Given the description of an element on the screen output the (x, y) to click on. 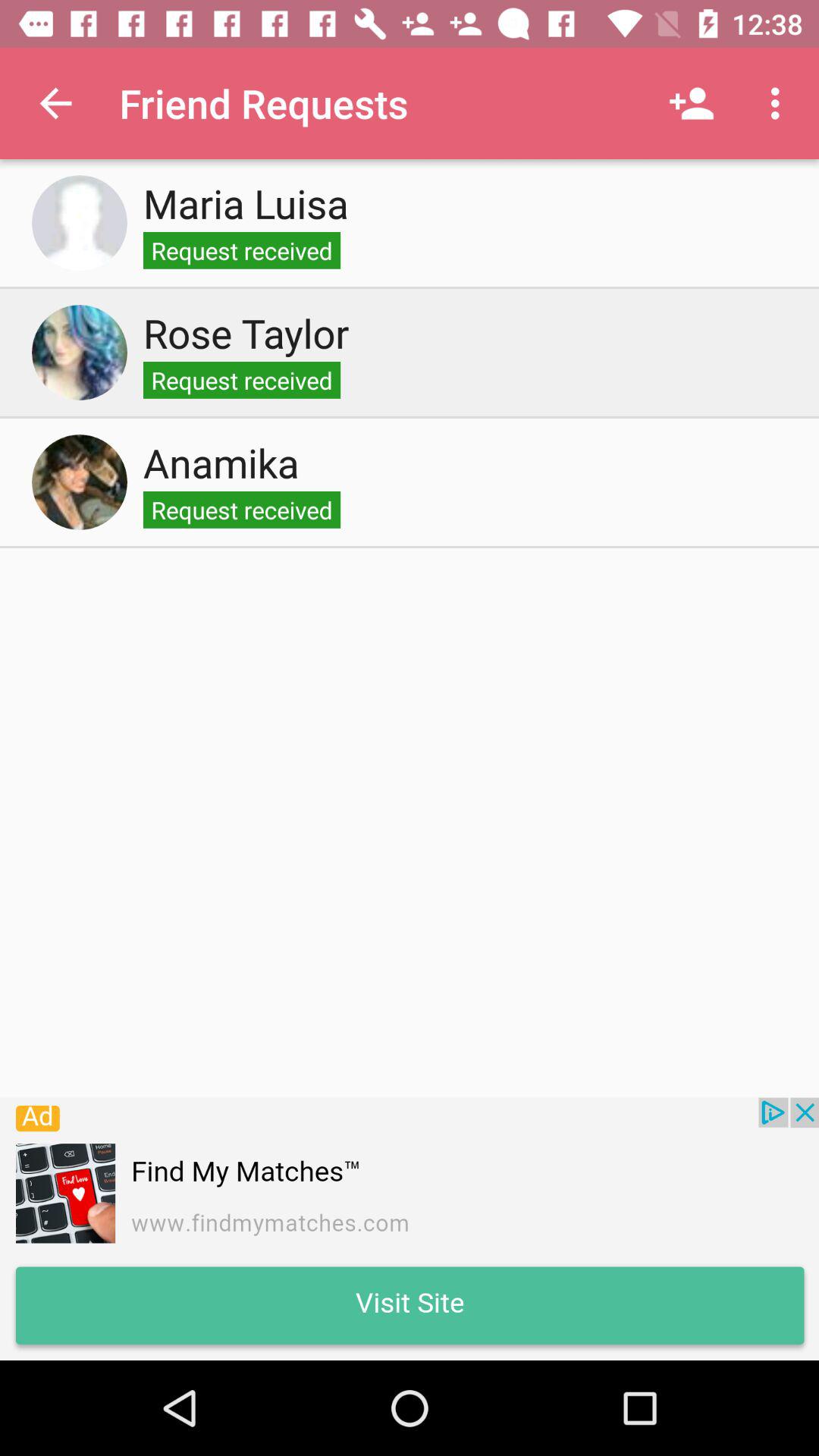
select advertisement (409, 1228)
